Given the description of an element on the screen output the (x, y) to click on. 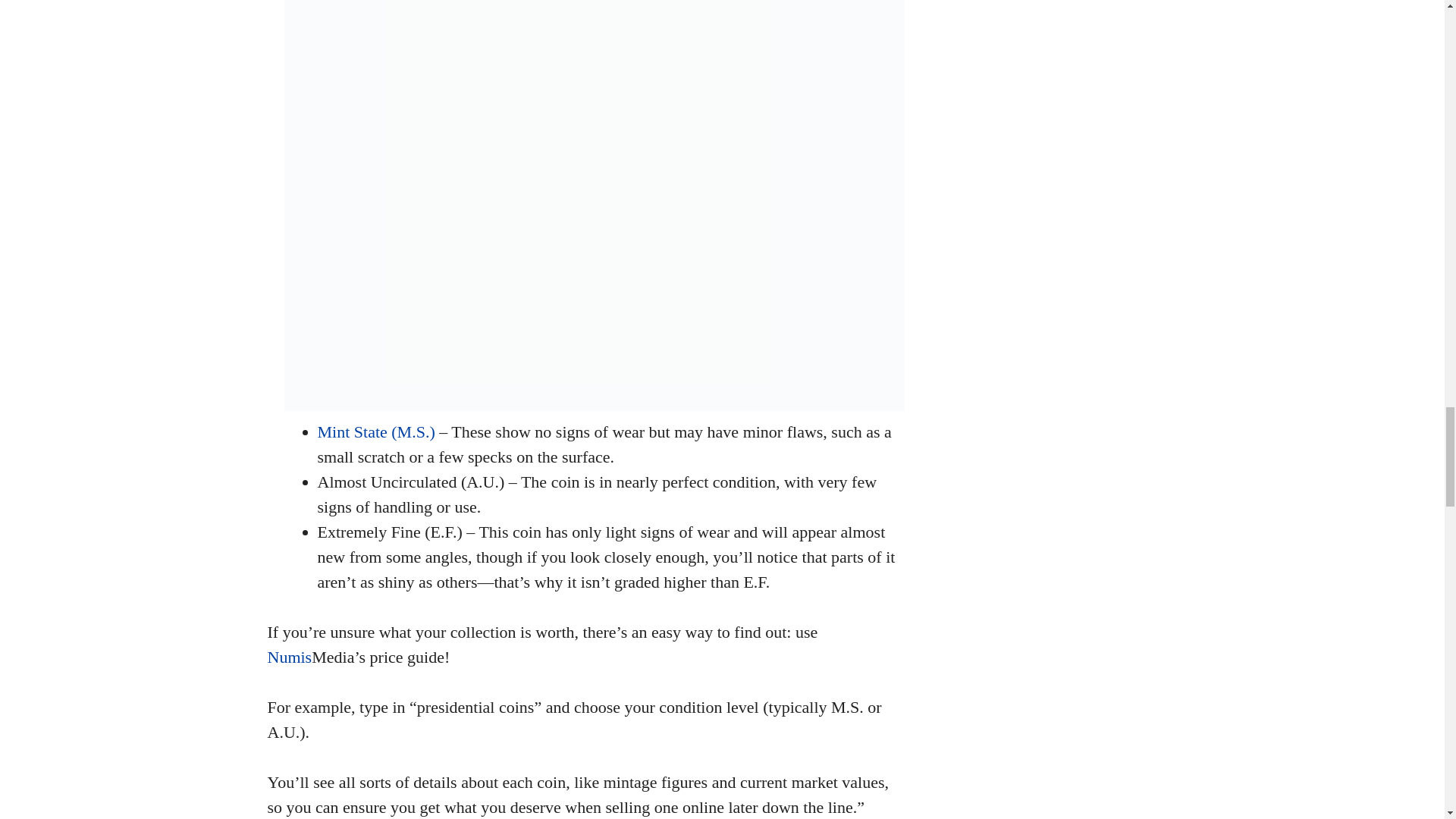
Numis (288, 656)
